Given the description of an element on the screen output the (x, y) to click on. 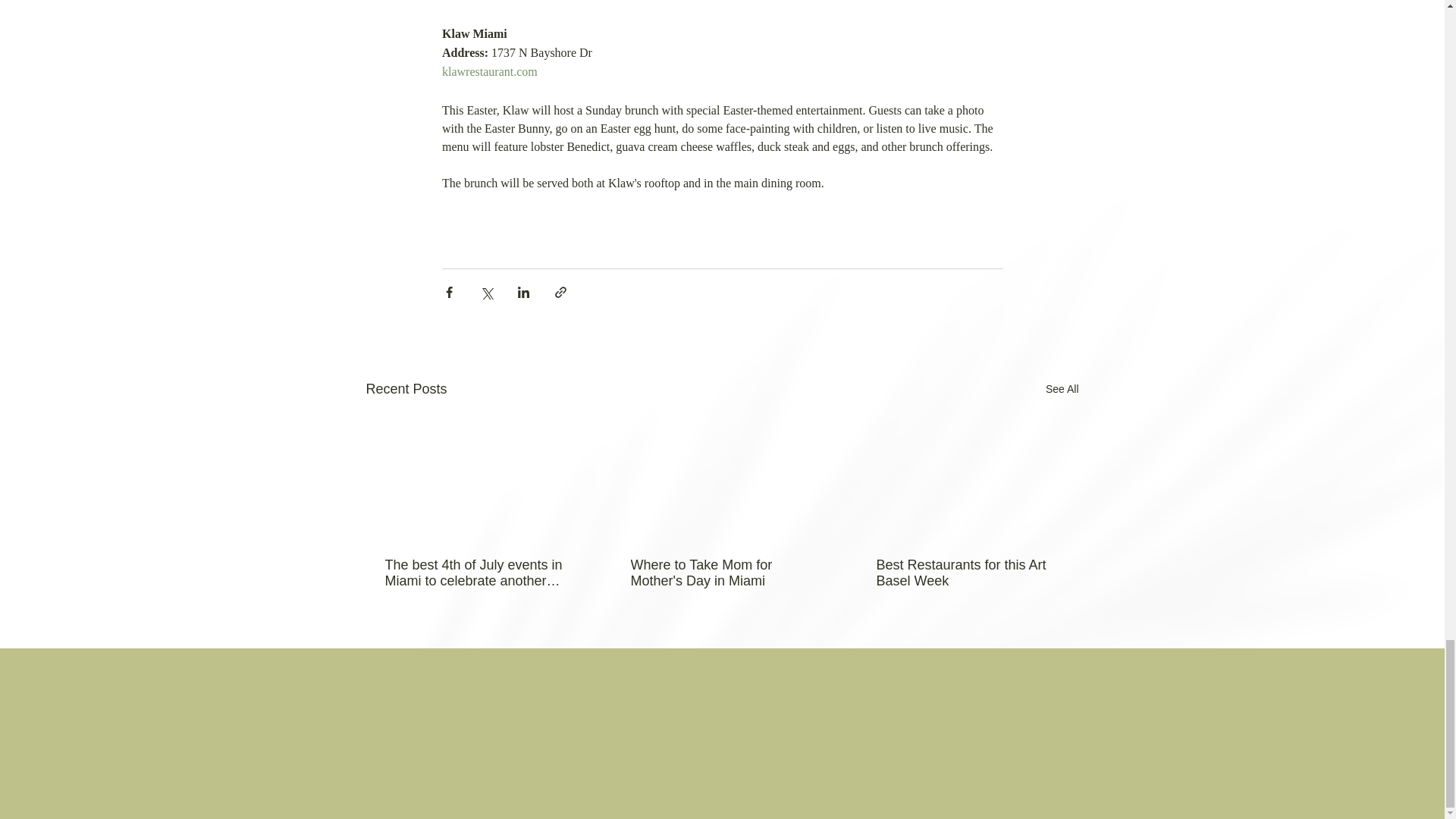
Where to Take Mom for Mother's Day in Miami (721, 572)
klawrestaurant.com (489, 71)
Best Restaurants for this Art Basel Week (967, 572)
See All (1061, 389)
